Given the description of an element on the screen output the (x, y) to click on. 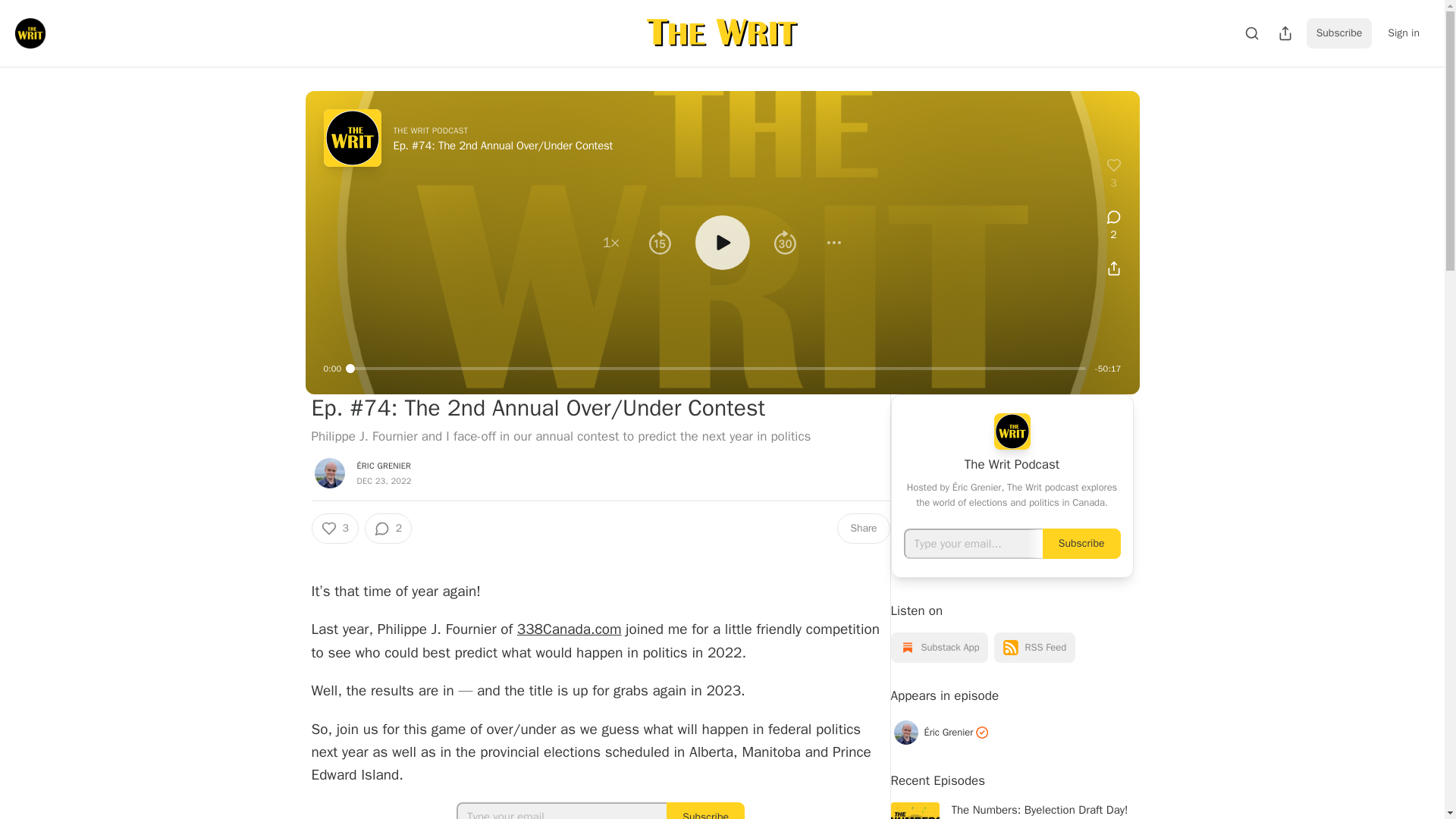
Subscribe (705, 810)
2 (388, 528)
Share (863, 528)
338Canada.com (568, 628)
3 (334, 528)
Subscribe (1339, 33)
Sign in (1403, 33)
